Given the description of an element on the screen output the (x, y) to click on. 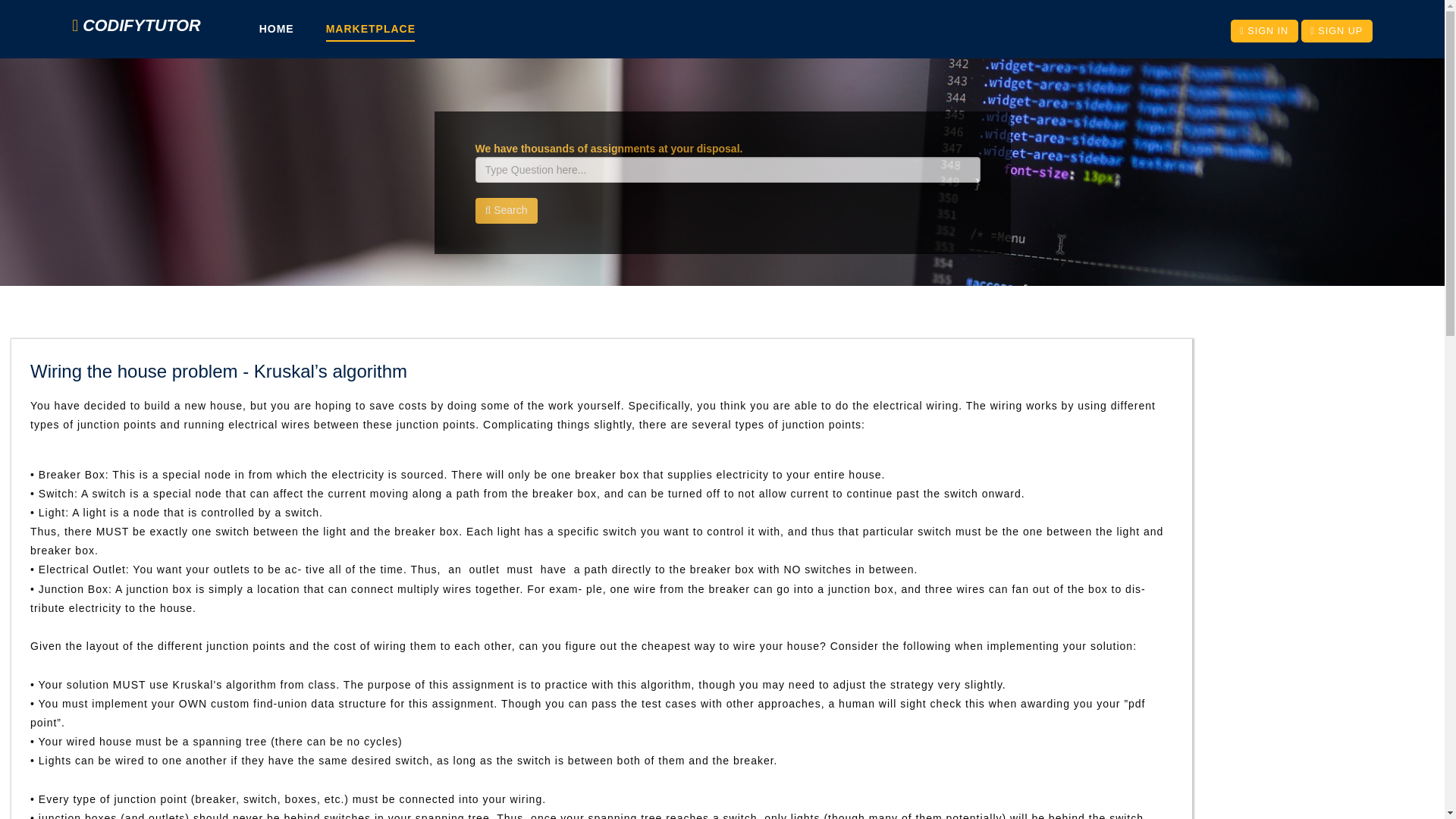
MARKETPLACE (370, 31)
CODIFYTUTOR (135, 37)
Search (505, 210)
HOME (276, 31)
SIGN UP (1337, 30)
SIGN IN (1264, 30)
